Given the description of an element on the screen output the (x, y) to click on. 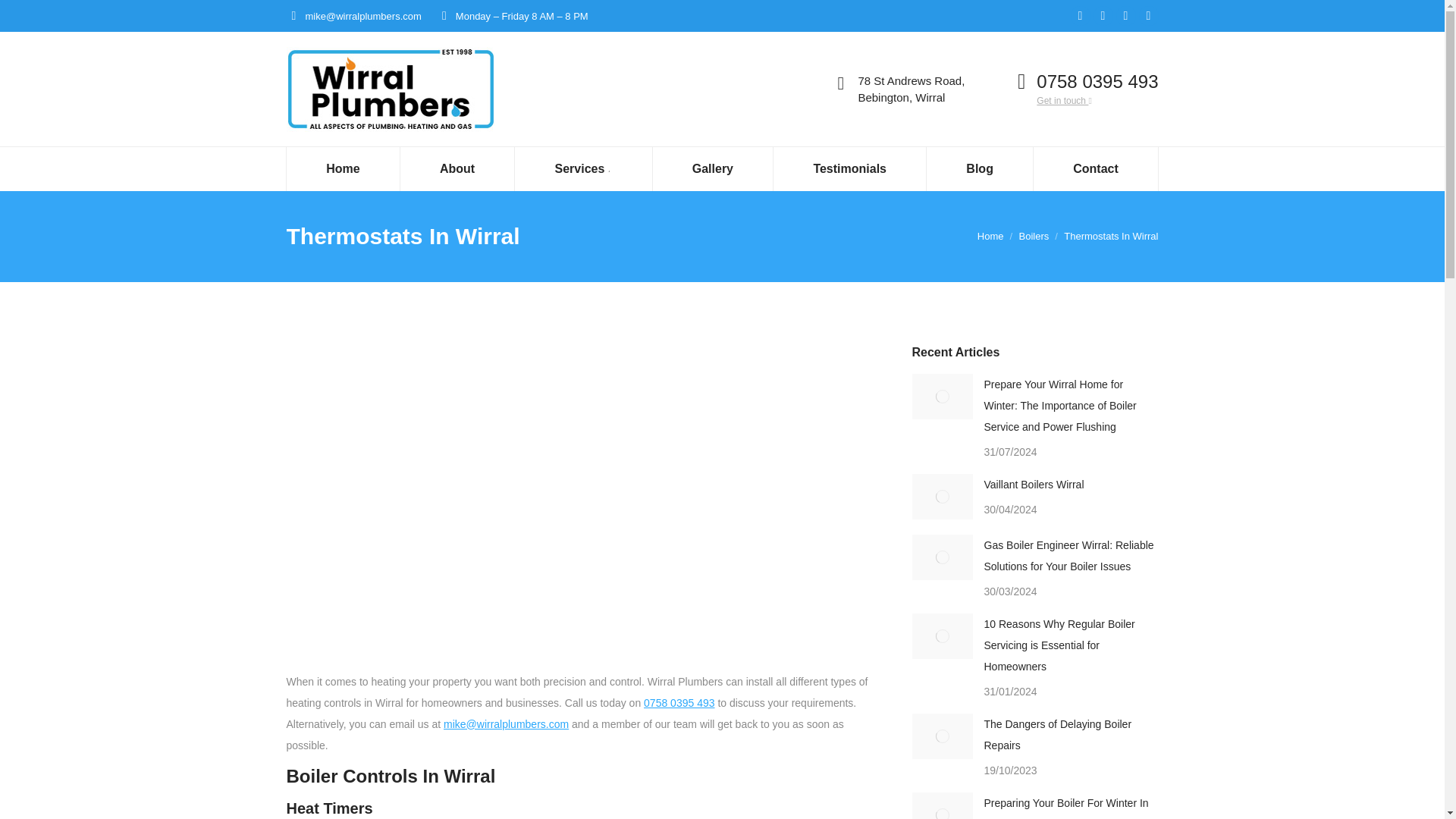
Linkedin page opens in new window (1125, 15)
Instagram page opens in new window (1148, 15)
About (456, 168)
Home (343, 168)
Contact (1095, 168)
Gallery (712, 168)
Blog (979, 168)
Services (583, 168)
Testimonials (849, 168)
Twitter page opens in new window (1103, 15)
